Given the description of an element on the screen output the (x, y) to click on. 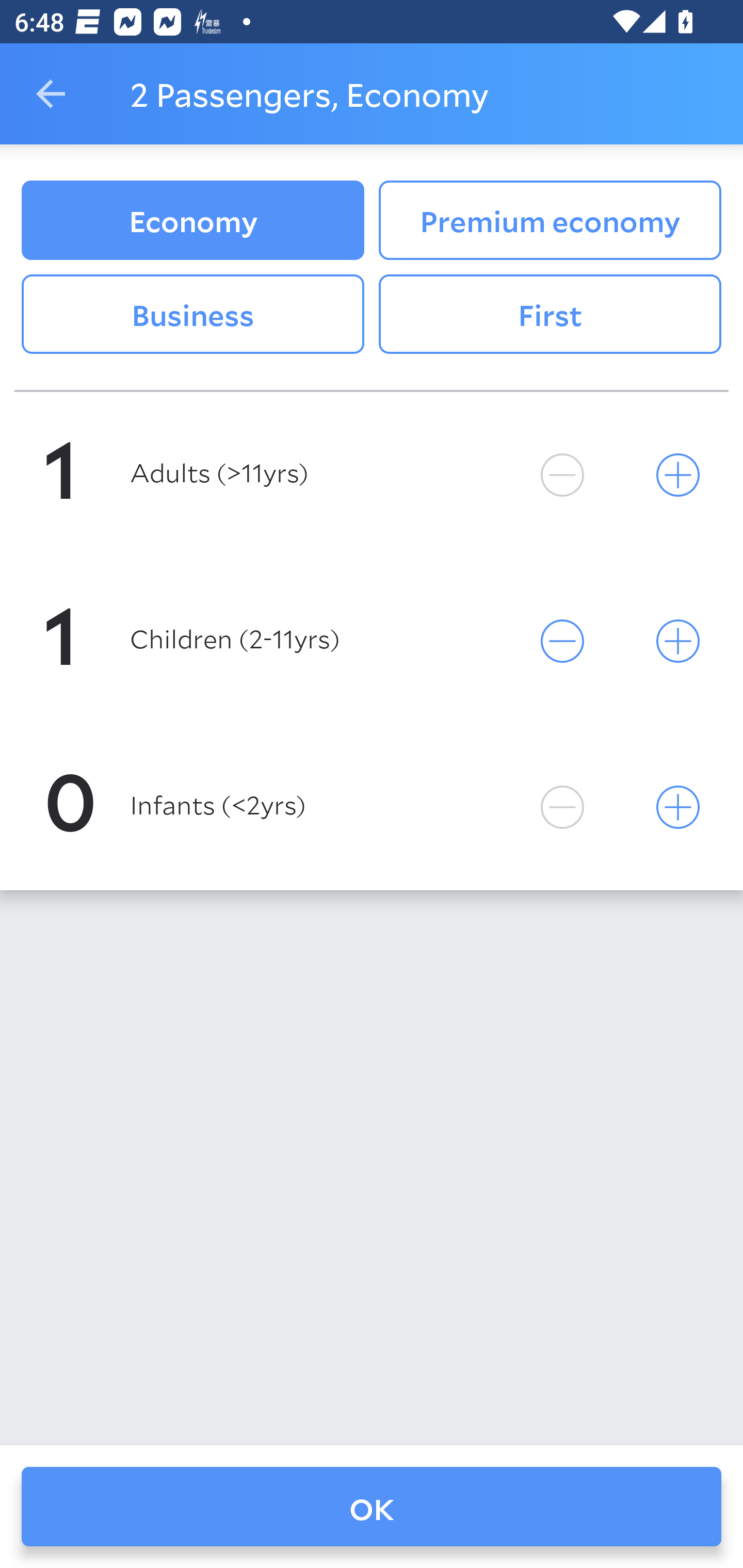
Navigate up (50, 93)
Economy (192, 220)
Premium economy (549, 220)
Business (192, 314)
First (549, 314)
OK (371, 1506)
